Given the description of an element on the screen output the (x, y) to click on. 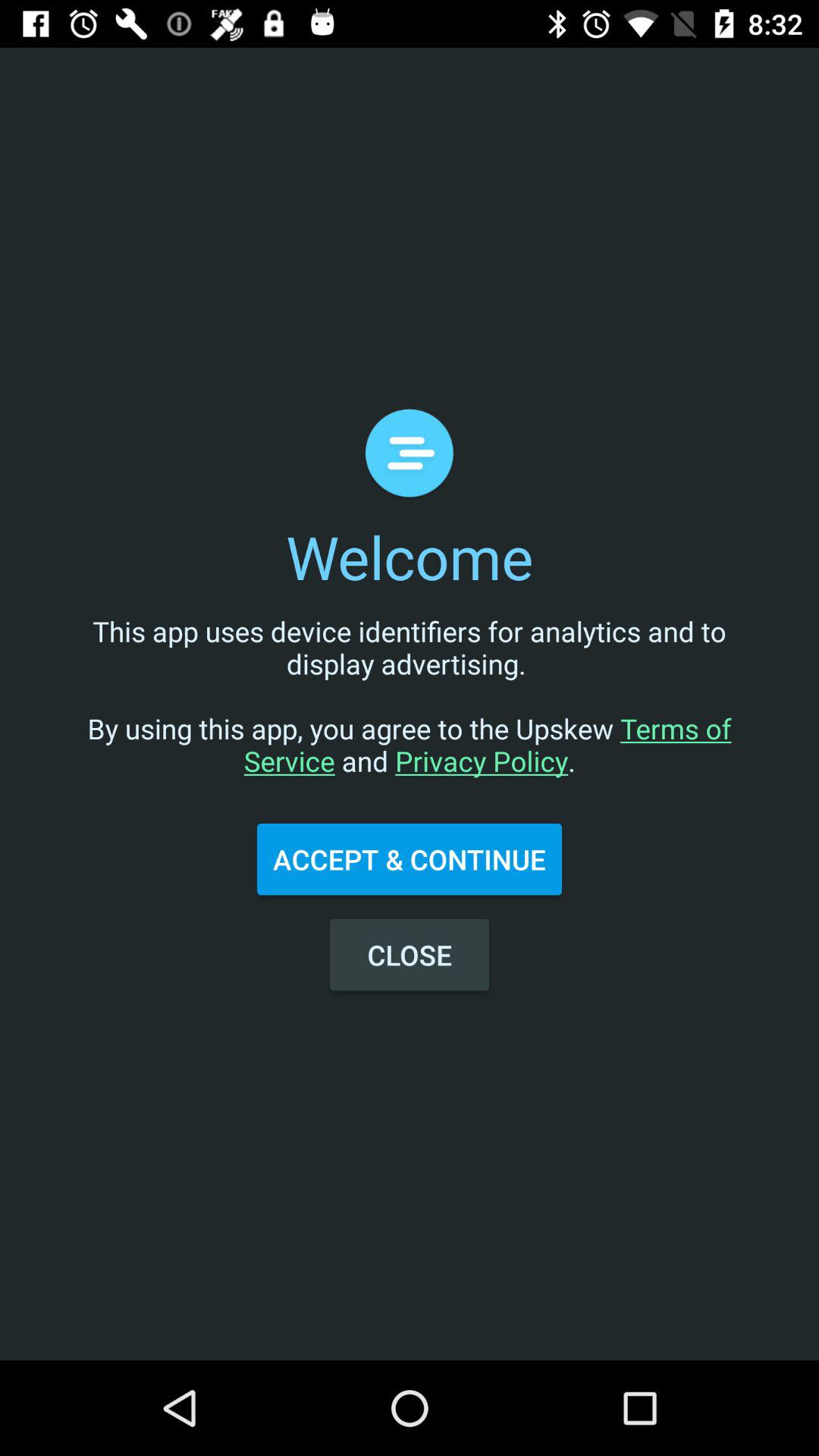
open the close (409, 954)
